Given the description of an element on the screen output the (x, y) to click on. 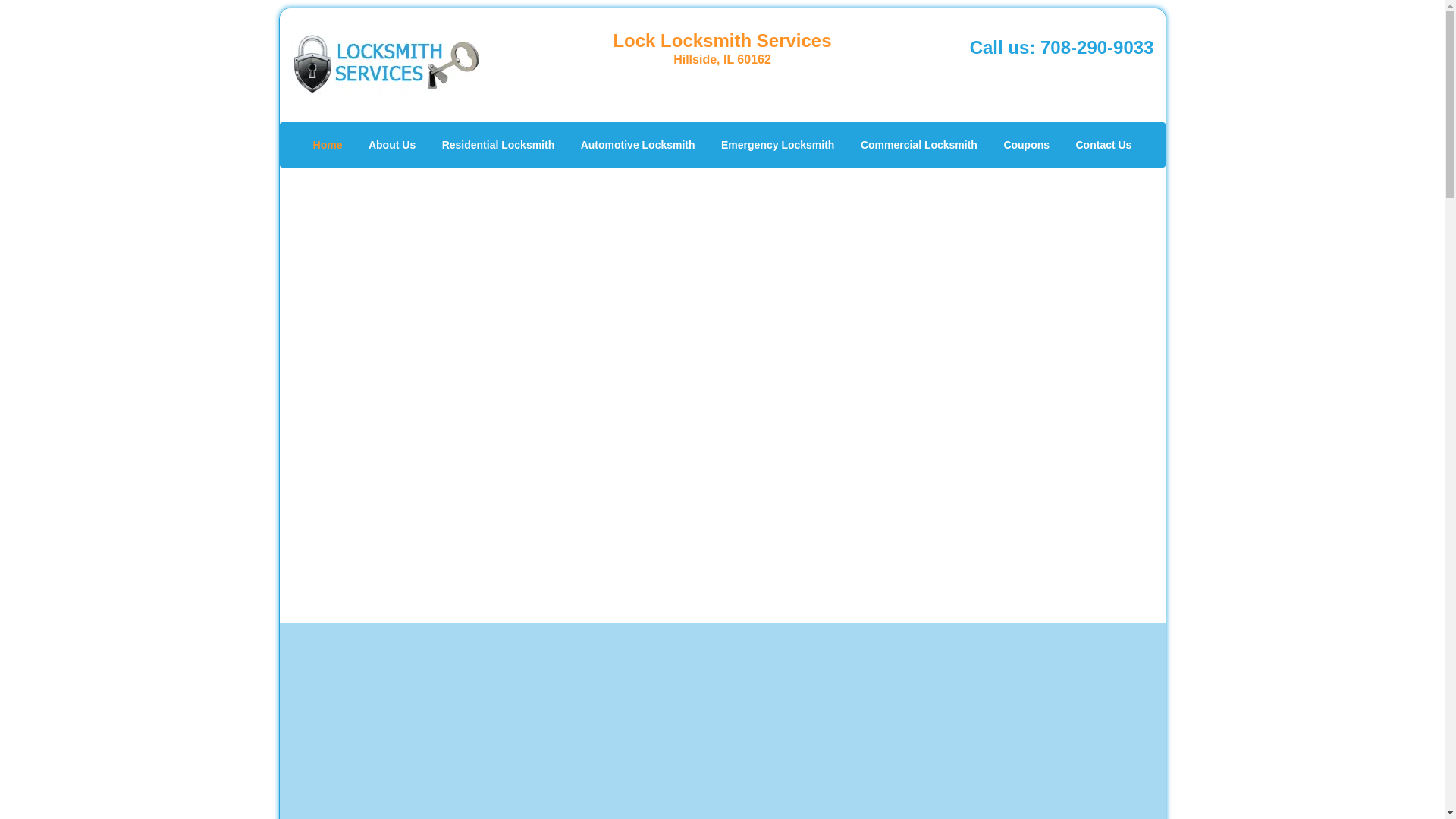
Contact Us (1103, 144)
About Us (391, 144)
Emergency Locksmith (777, 144)
Commercial Locksmith (918, 144)
Coupons (1026, 144)
Residential Locksmith (498, 144)
708-290-9033 (1097, 46)
Home (327, 144)
Automotive Locksmith (637, 144)
